Given the description of an element on the screen output the (x, y) to click on. 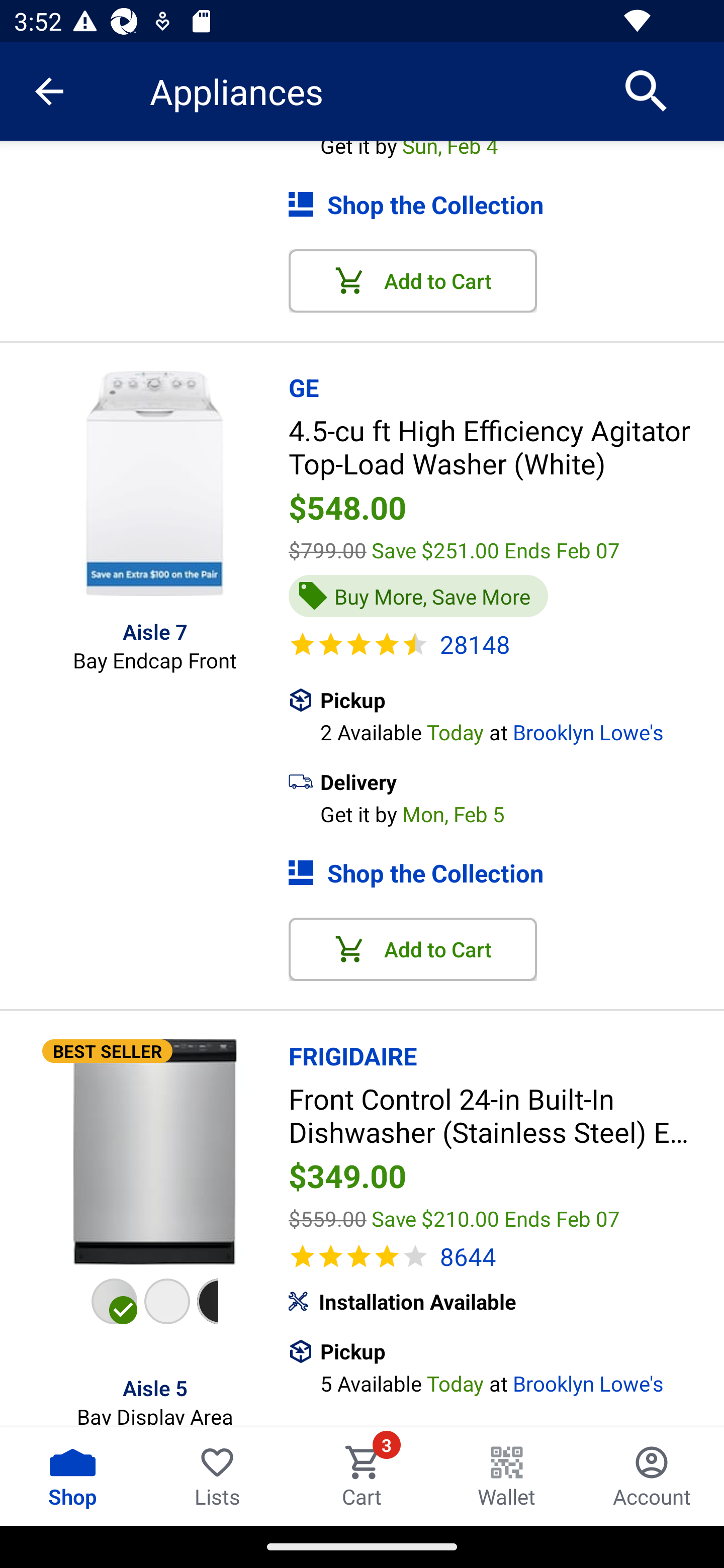
Navigate up (49, 91)
Search for products (646, 90)
Shop the Collection (506, 204)
Add to Cart (412, 280)
2 Available Today  at  Brooklyn Lowe's (522, 729)
Shop the Collection (506, 872)
Add to Cart (412, 949)
5 Available Today  at  Brooklyn Lowe's (522, 1381)
Lists (216, 1475)
Cart Cart 3 (361, 1475)
Wallet (506, 1475)
Account (651, 1475)
